Given the description of an element on the screen output the (x, y) to click on. 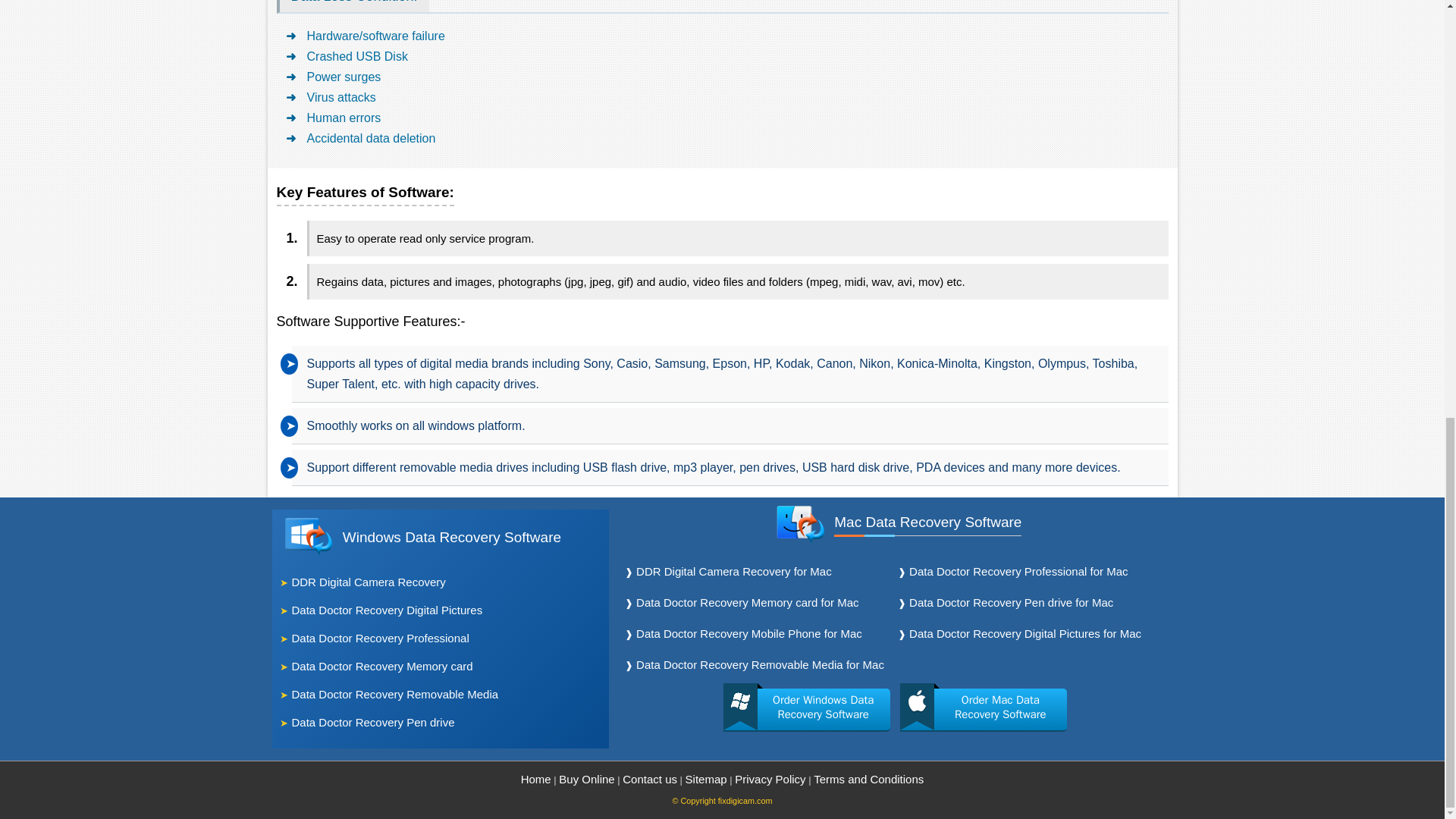
Data Doctor Recovery Professional (379, 638)
Data Doctor Recovery Digital Pictures (386, 610)
Data Doctor Recovery Digital Pictures for Mac (1024, 633)
Terms and Conditions (868, 779)
Data Doctor Recovery Pen drive for Mac (1010, 603)
Data Doctor Recovery Mobile Phone for Mac (748, 633)
DDR Digital Camera Recovery for Mac (733, 572)
Mac Data Recovery Software (928, 523)
Data Doctor Recovery Professional for Mac (1017, 572)
Order Mac Data Recovery Software (983, 710)
